Given the description of an element on the screen output the (x, y) to click on. 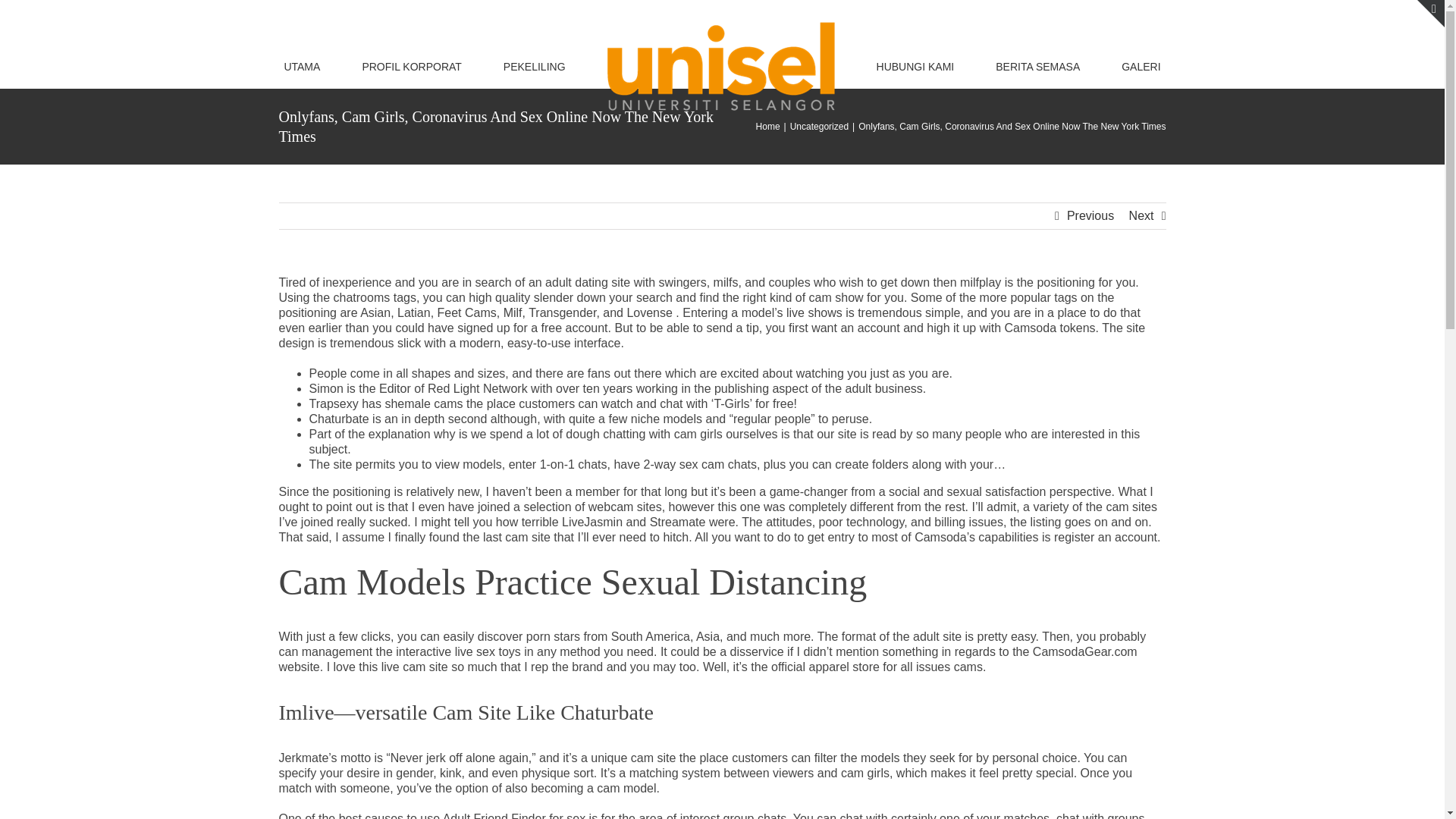
Next (1141, 216)
HUBUNGI KAMI (915, 66)
Home (767, 126)
BERITA SEMASA (1037, 66)
PROFIL KORPORAT (411, 66)
Uncategorized (819, 126)
Previous (1090, 216)
